Given the description of an element on the screen output the (x, y) to click on. 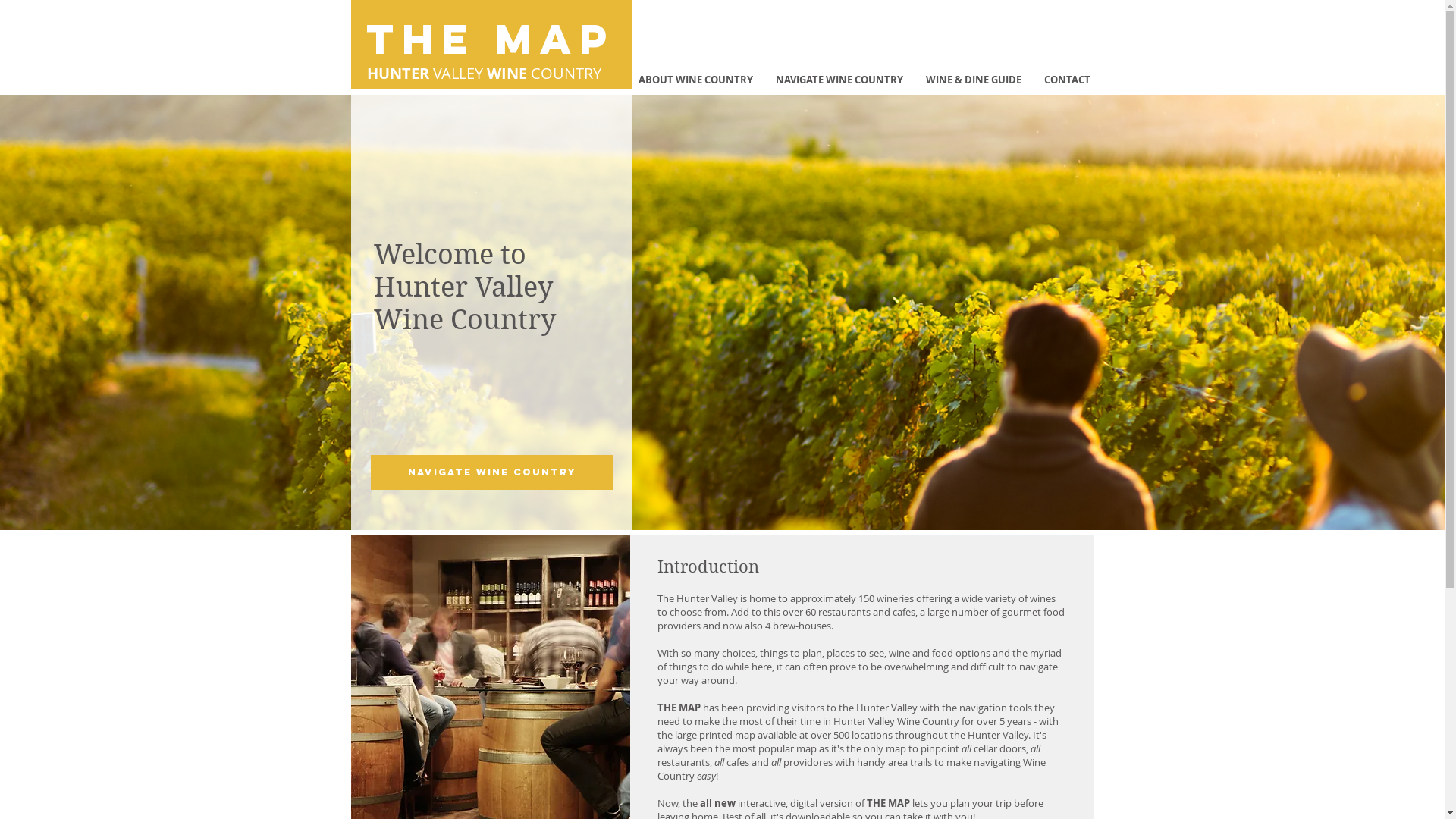
ABOUT WINE COUNTRY Element type: text (694, 79)
HUNTER VALLEY WINE COUNTRY Element type: text (484, 72)
WINE & DINE GUIDE Element type: text (973, 79)
THE MAP Element type: text (490, 40)
NAVIGATE WINE COUNTRY Element type: text (491, 472)
CONTACT Element type: text (1066, 79)
NAVIGATE WINE COUNTRY Element type: text (839, 79)
